Given the description of an element on the screen output the (x, y) to click on. 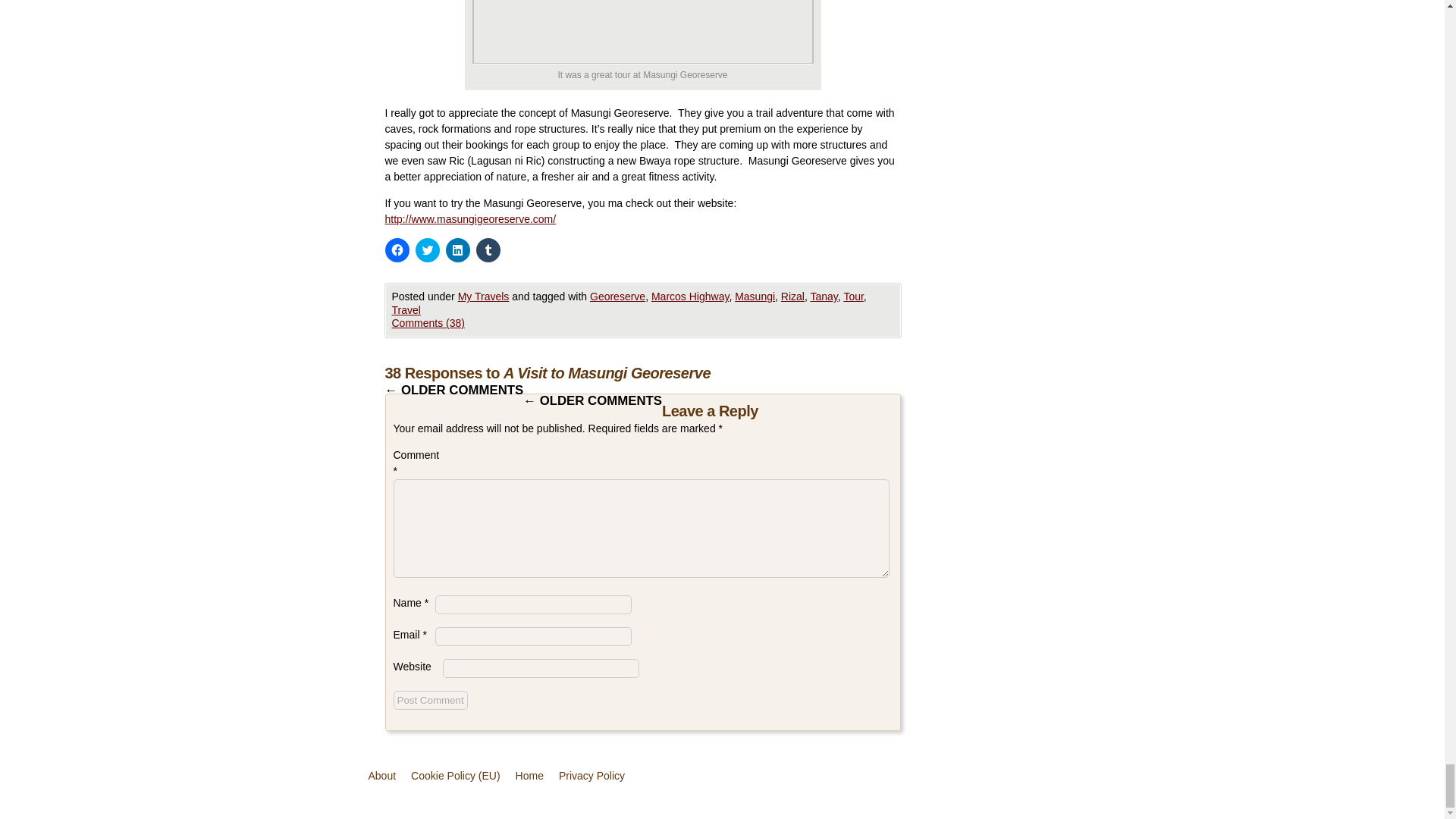
Privacy Policy (591, 776)
Click to share on Facebook (397, 250)
Masungi (754, 296)
Click to share on LinkedIn (457, 250)
Click to share on Twitter (426, 250)
Georeserve (617, 296)
My Travels (483, 296)
Click to share on Tumblr (488, 250)
Tour (853, 296)
Tanay (824, 296)
Post Comment (430, 700)
Post Comment (430, 700)
Home (529, 776)
About (382, 776)
Rizal (792, 296)
